Given the description of an element on the screen output the (x, y) to click on. 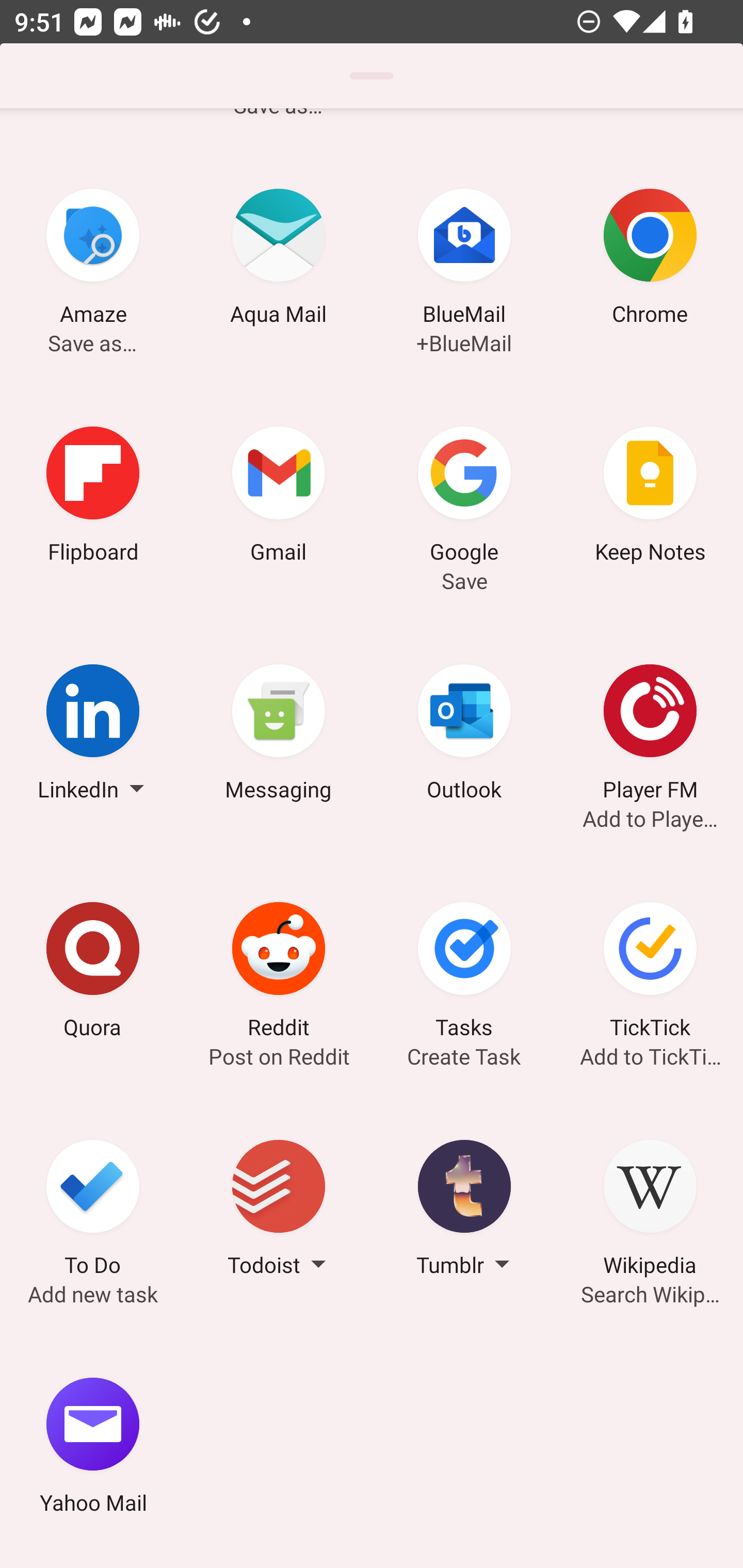
Amaze Save as… (92, 260)
Aqua Mail (278, 260)
BlueMail +BlueMail (464, 260)
Chrome (650, 260)
Flipboard (92, 497)
Gmail (278, 497)
Google Save (464, 497)
Keep Notes (650, 497)
LinkedIn (92, 735)
Messaging (278, 735)
Outlook (464, 735)
Player FM Add to Player FM (650, 735)
Quora (92, 973)
Reddit Post on Reddit (278, 973)
Tasks Create Task (464, 973)
TickTick Add to TickTick (650, 973)
To Do Add new task (92, 1210)
Todoist (278, 1210)
Tumblr (464, 1210)
Wikipedia Search Wikipedia (650, 1210)
Yahoo Mail (92, 1448)
